Given the description of an element on the screen output the (x, y) to click on. 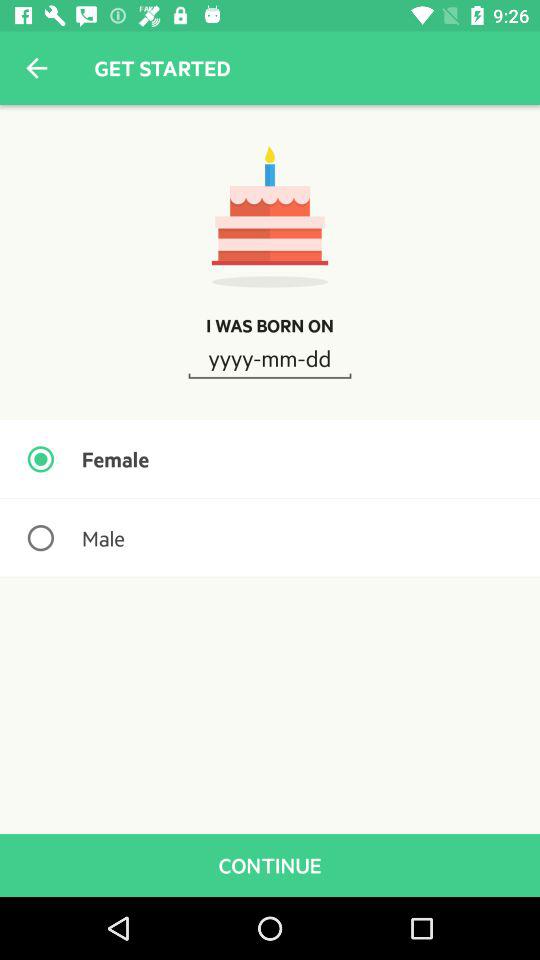
launch the continue icon (270, 864)
